Given the description of an element on the screen output the (x, y) to click on. 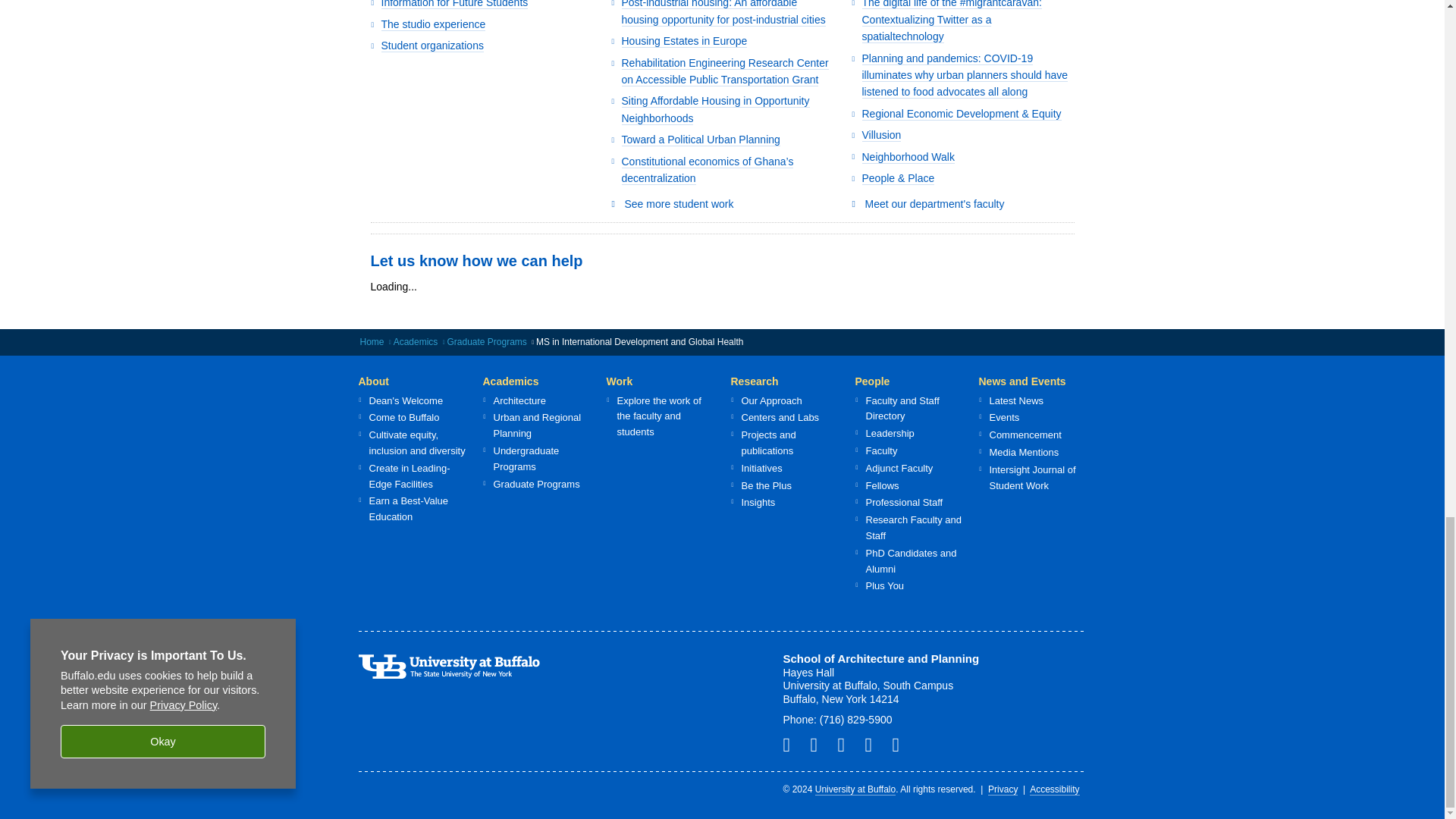
Instagram (792, 744)
YouTube (901, 744)
Facebook (819, 744)
X (847, 744)
LinkedIn (873, 744)
